Given the description of an element on the screen output the (x, y) to click on. 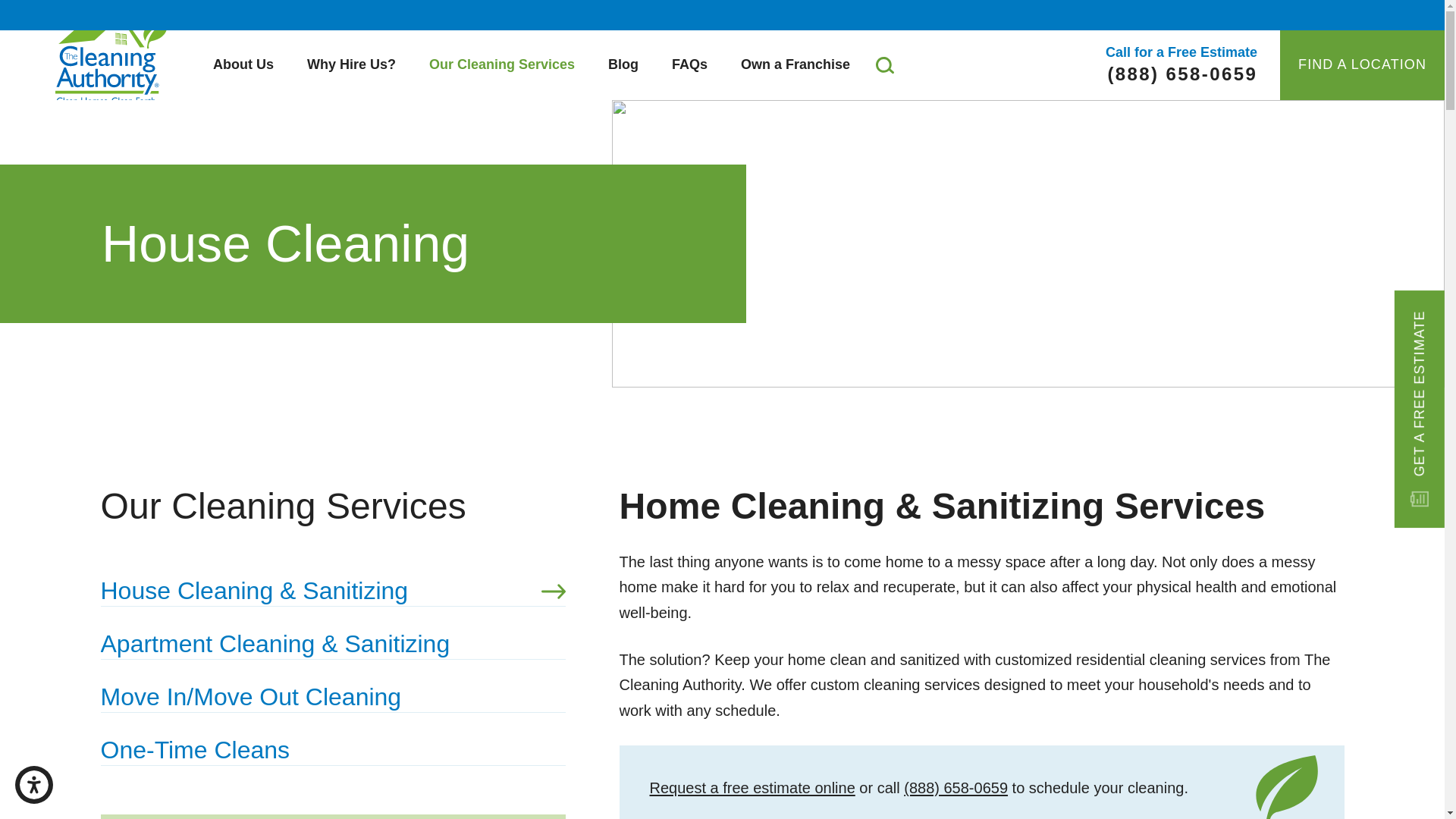
Open the accessibility options menu (33, 784)
Our Cleaning Services (501, 64)
Why Hire Us? (350, 64)
About Us (242, 64)
Blog (623, 64)
The Cleaning Authority (112, 55)
FAQs (689, 64)
